Given the description of an element on the screen output the (x, y) to click on. 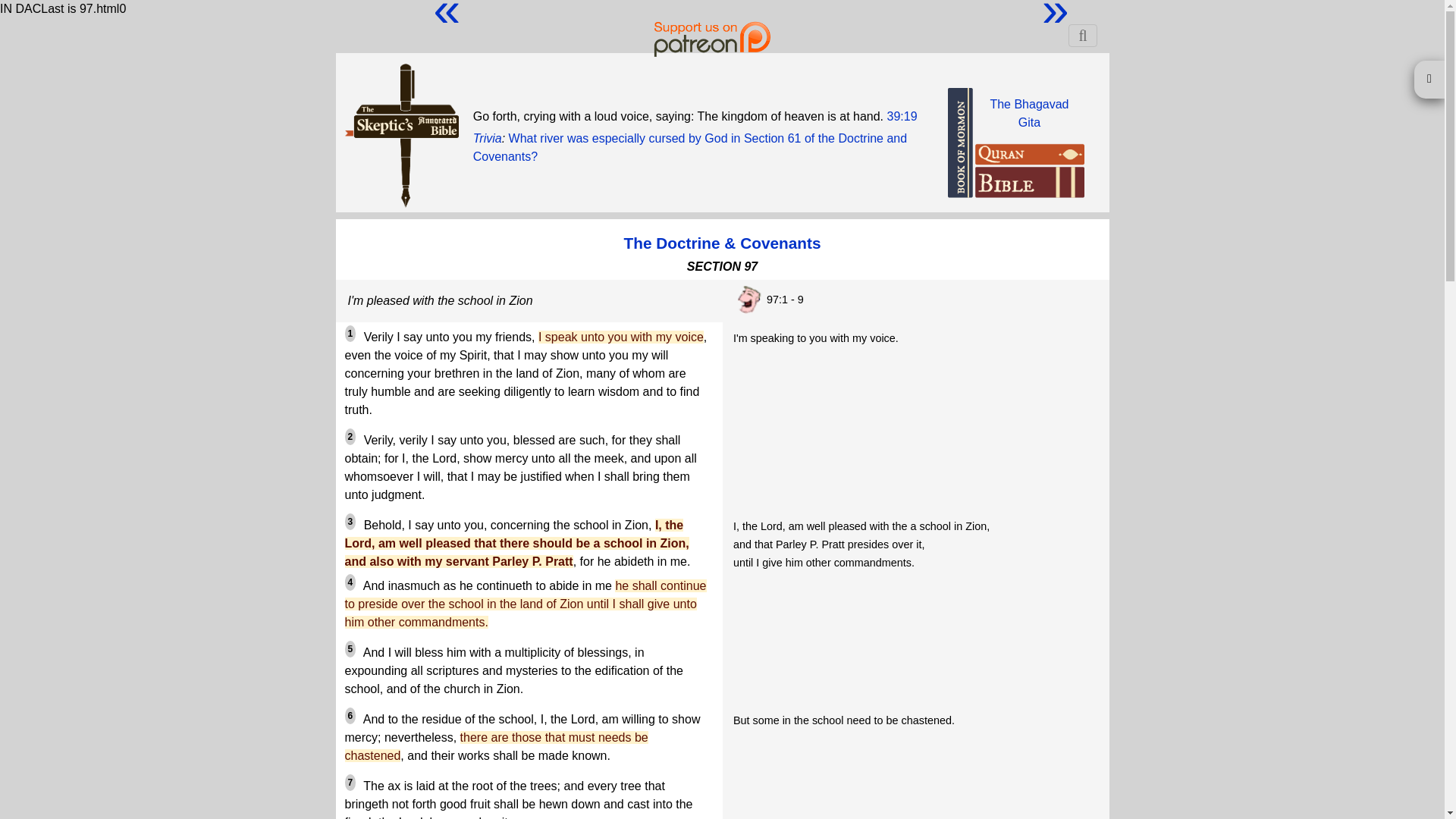
Trivia (487, 137)
Absurdity (747, 300)
39:19 (901, 115)
